Given the description of an element on the screen output the (x, y) to click on. 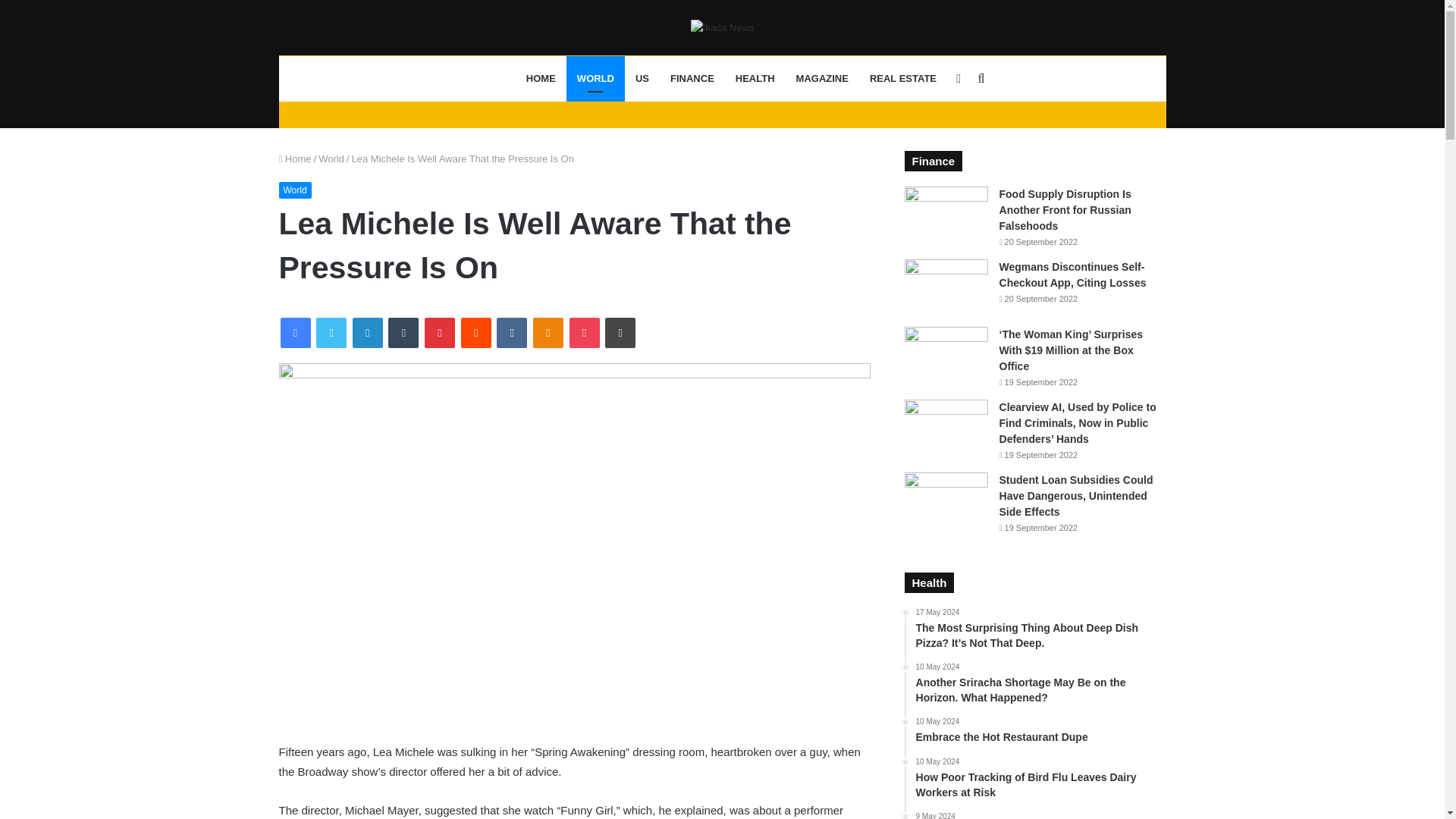
World (330, 158)
Pinterest (439, 332)
REAL ESTATE (903, 78)
US (641, 78)
LinkedIn (367, 332)
Twitter (330, 332)
MAGAZINE (822, 78)
Reddit (476, 332)
VKontakte (511, 332)
Twitter (330, 332)
Ikada News (483, 79)
Search for (980, 78)
Pocket (583, 332)
HOME (540, 78)
Pinterest (439, 332)
